Given the description of an element on the screen output the (x, y) to click on. 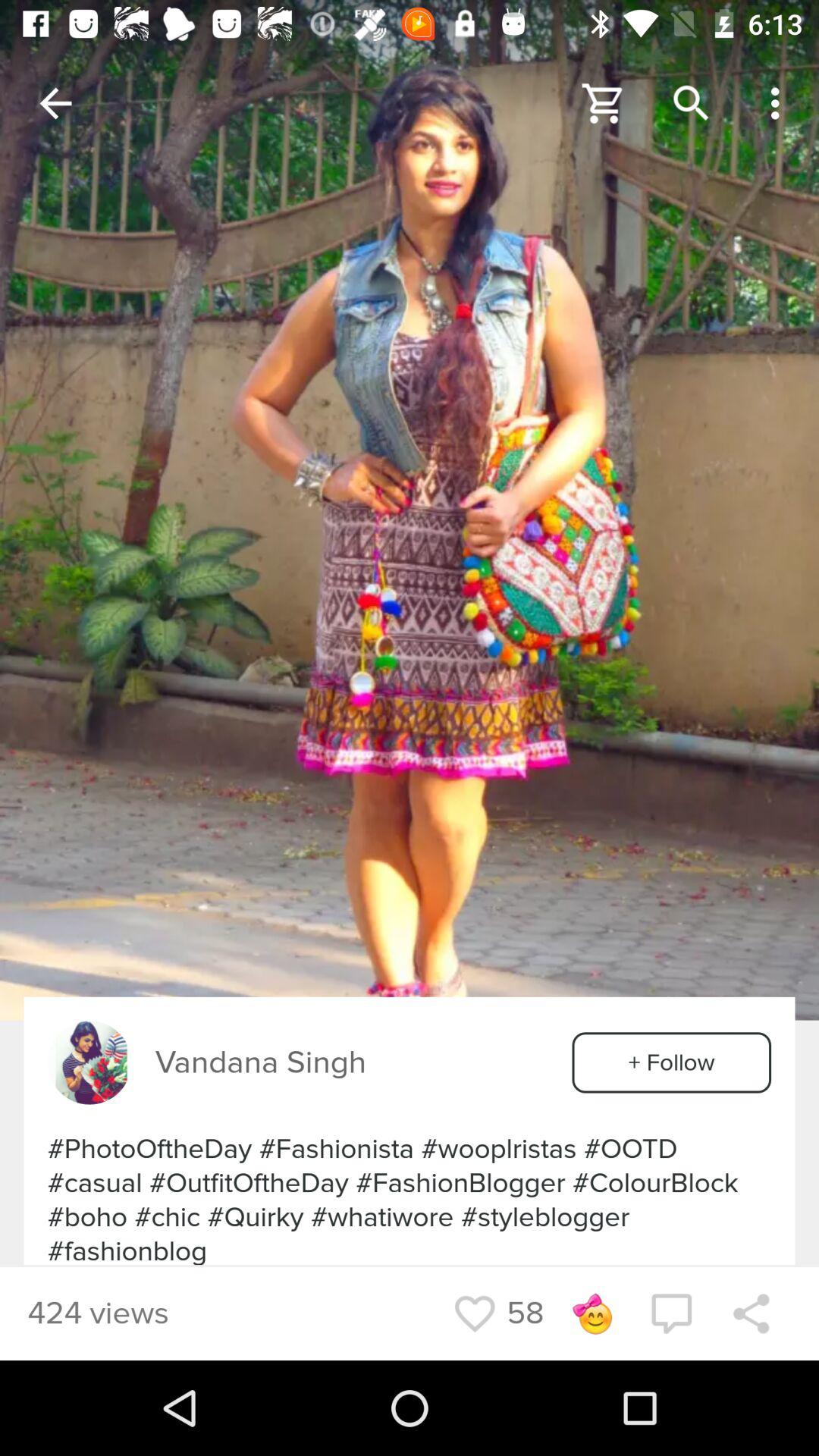
description (409, 510)
